Given the description of an element on the screen output the (x, y) to click on. 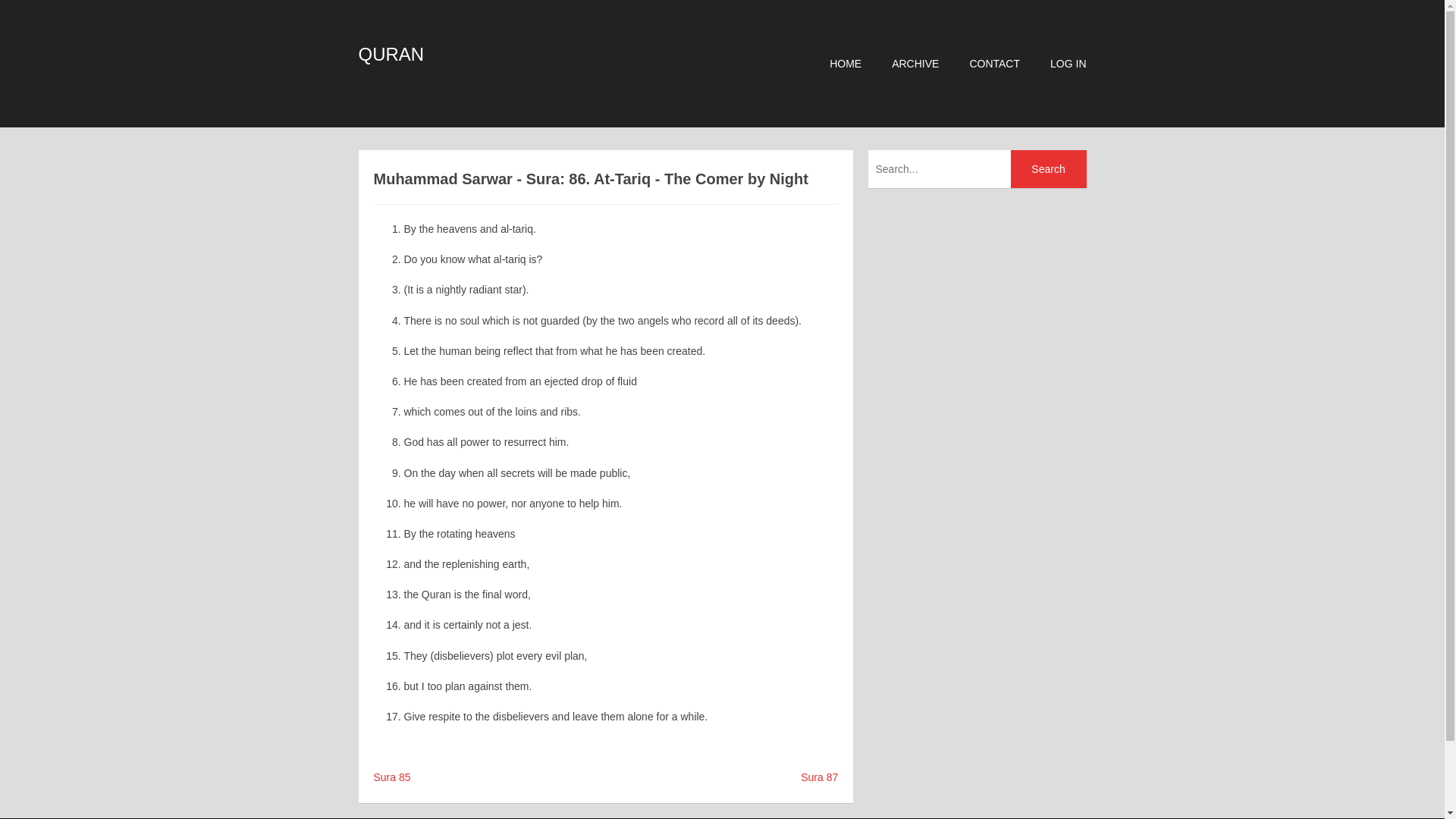
Search (1048, 168)
Sura 85 (391, 776)
CONTACT (994, 63)
QURAN (390, 54)
Sura 87 (819, 776)
ARCHIVE (915, 63)
LOG IN (1067, 63)
HOME (845, 63)
